Given the description of an element on the screen output the (x, y) to click on. 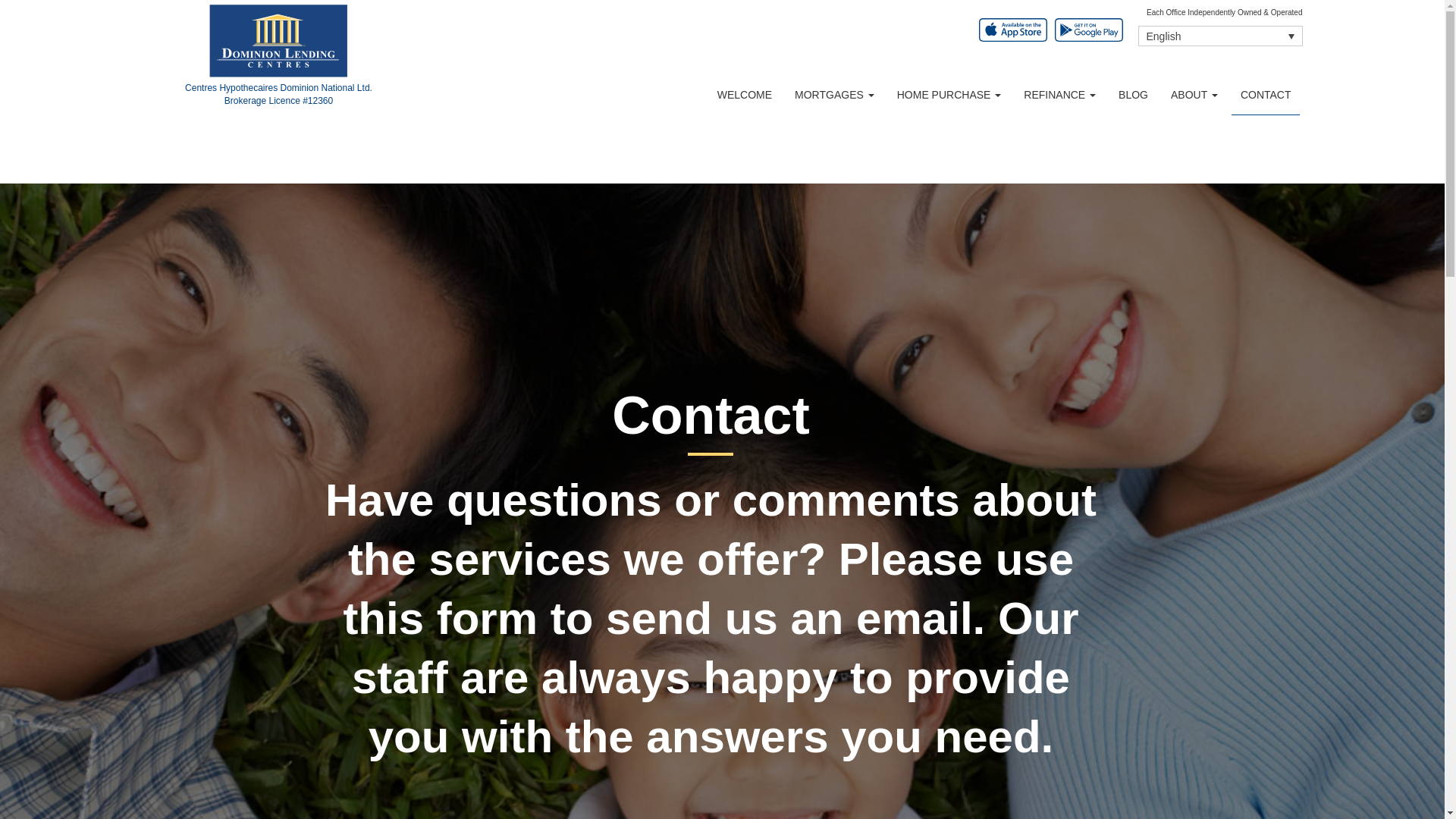
BLOG (1132, 94)
CONTACT (1265, 94)
ABOUT (1193, 94)
HOME PURCHASE (949, 94)
REFINANCE (1058, 94)
MORTGAGES (834, 94)
WELCOME (744, 94)
English (1219, 35)
